Given the description of an element on the screen output the (x, y) to click on. 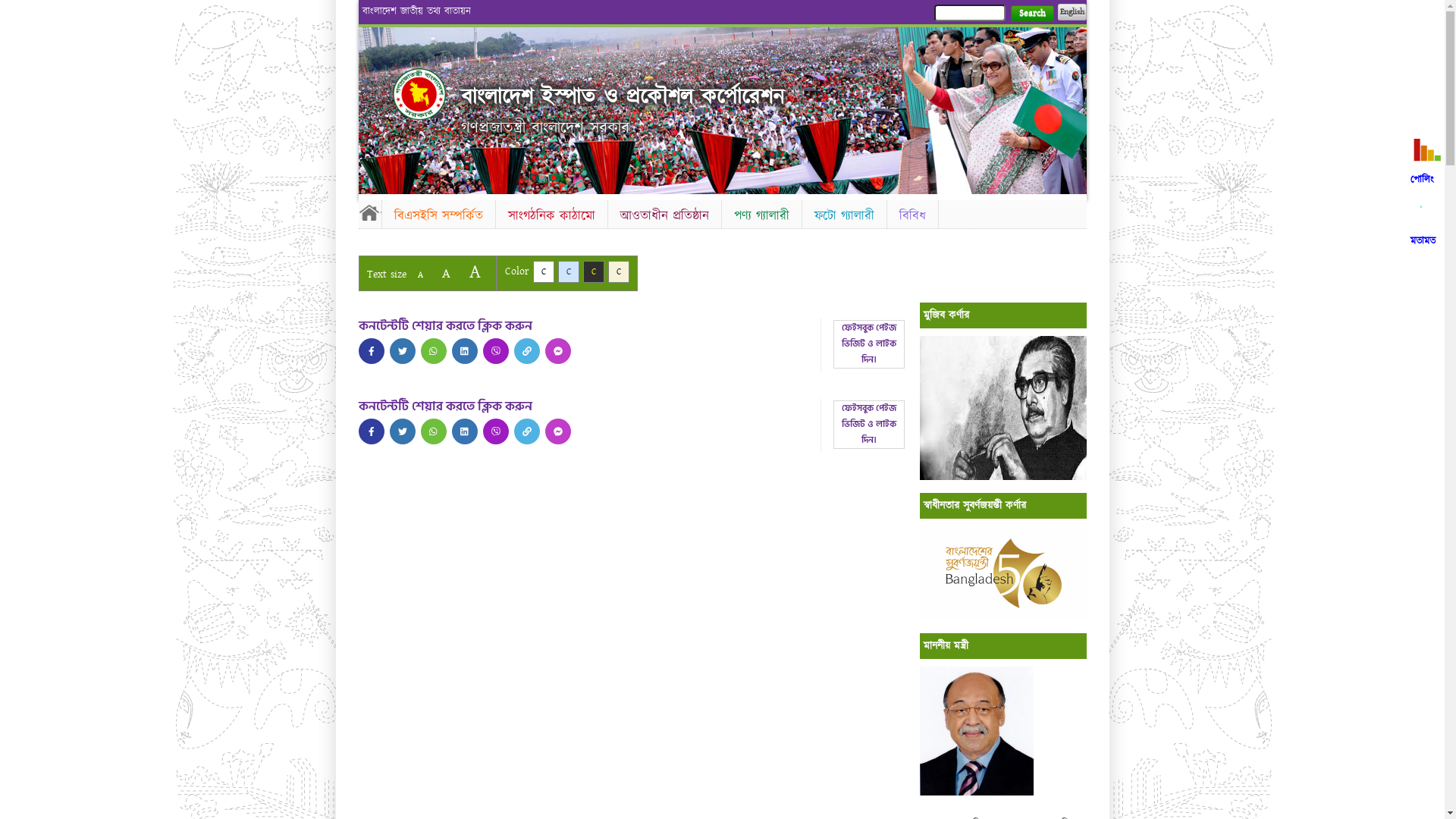
Search Element type: text (1031, 13)
C Element type: text (542, 271)
Home Element type: hover (368, 211)
Home Element type: hover (418, 93)
A Element type: text (474, 271)
C Element type: text (618, 271)
C Element type: text (592, 271)
A Element type: text (445, 273)
C Element type: text (568, 271)
A Element type: text (419, 274)
English Element type: text (1071, 11)
